Given the description of an element on the screen output the (x, y) to click on. 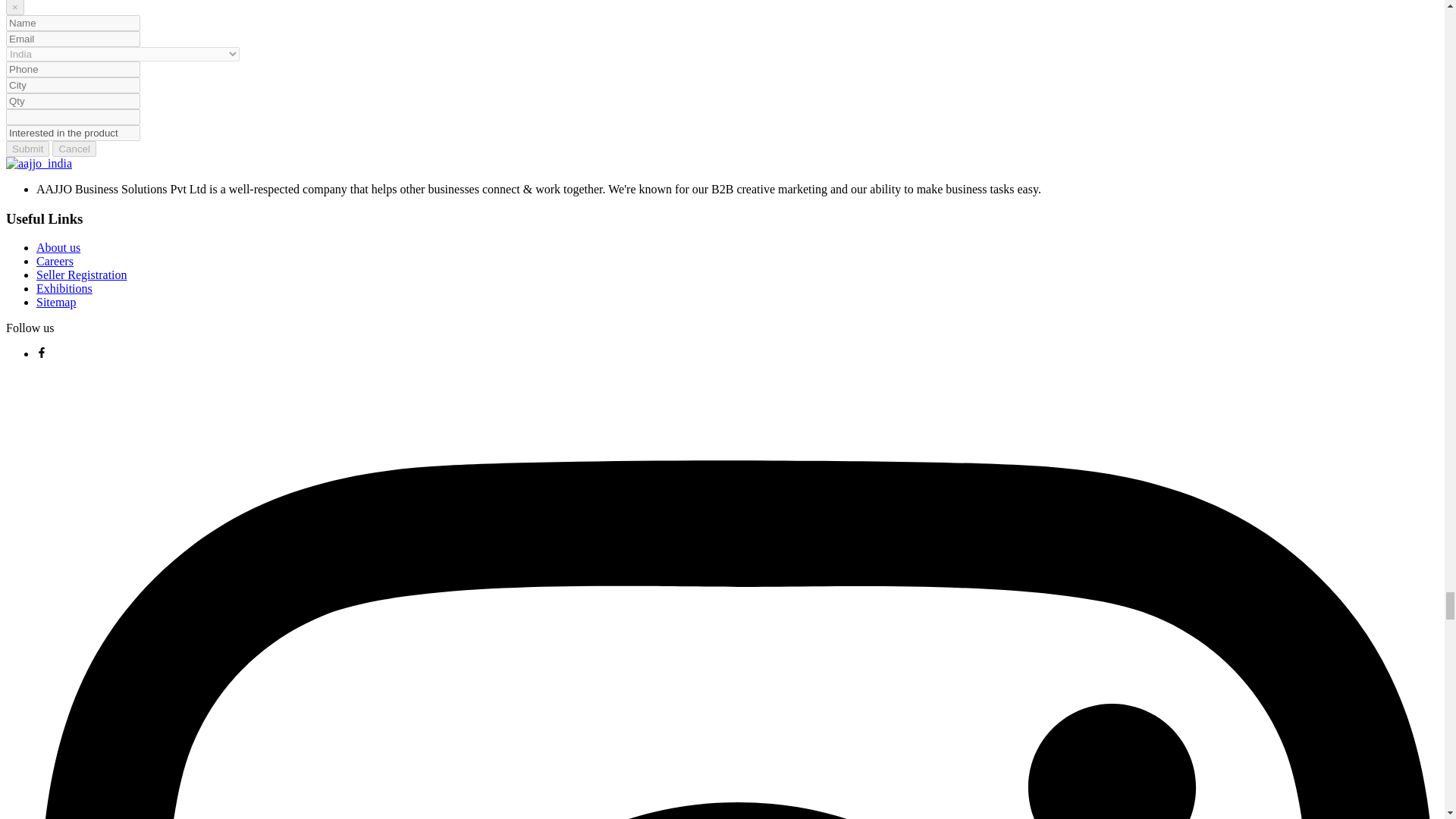
About us (58, 246)
Careers (55, 260)
Submit (27, 148)
Sitemap (55, 301)
Cancel (74, 148)
Interested in the product (72, 132)
Seller Registration (82, 274)
facebook (41, 353)
Home (38, 163)
Exhibitions (64, 287)
